Given the description of an element on the screen output the (x, y) to click on. 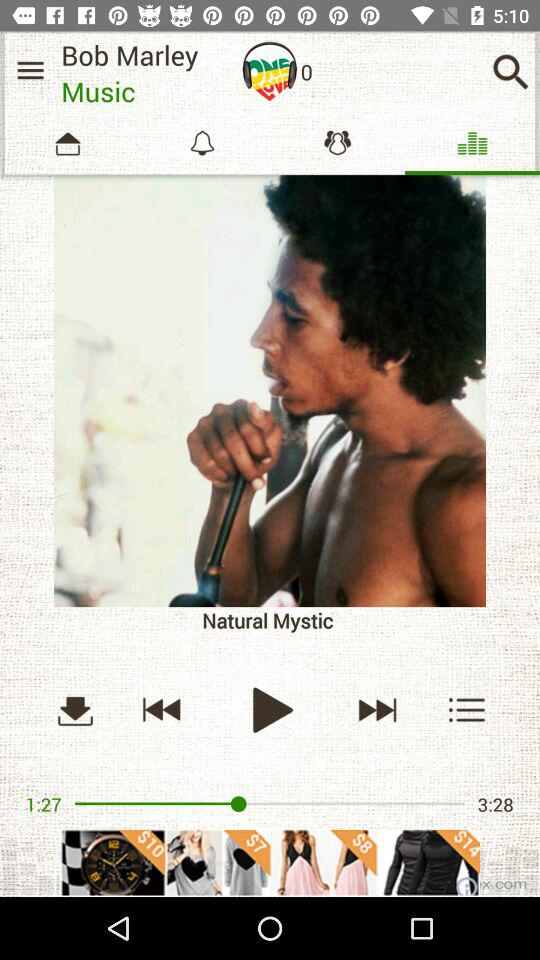
headphone button (269, 71)
